Given the description of an element on the screen output the (x, y) to click on. 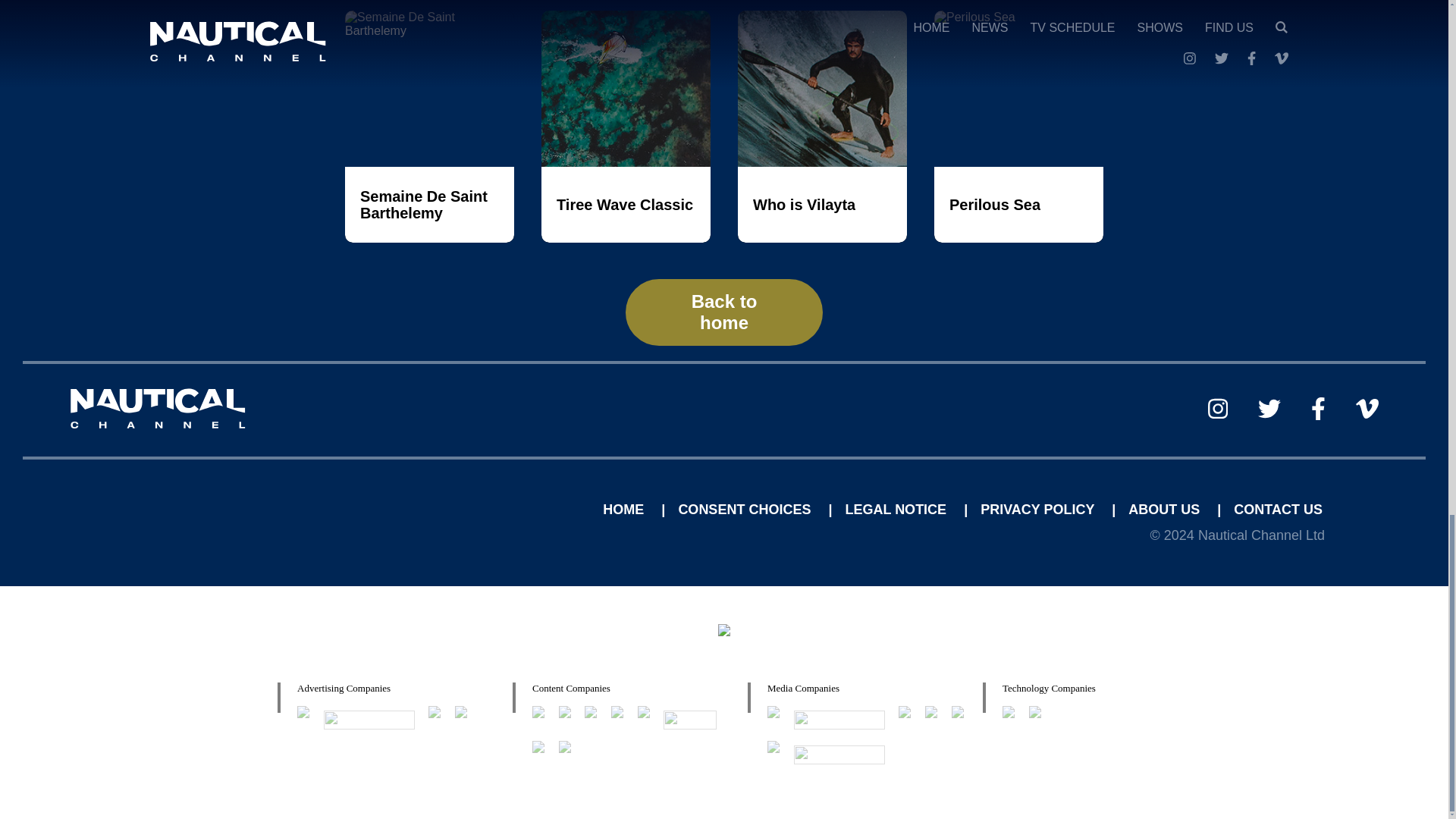
Back to home (724, 312)
twitter (1269, 408)
CONTACT US (1277, 509)
PRIVACY POLICY (1038, 509)
Linkedin Pablo Pereiro (503, 509)
LEGAL NOTICE (897, 509)
CONSENT CHOICES (745, 509)
Vimeo (1366, 408)
ABOUT US (1166, 509)
HOME (624, 509)
